Given the description of an element on the screen output the (x, y) to click on. 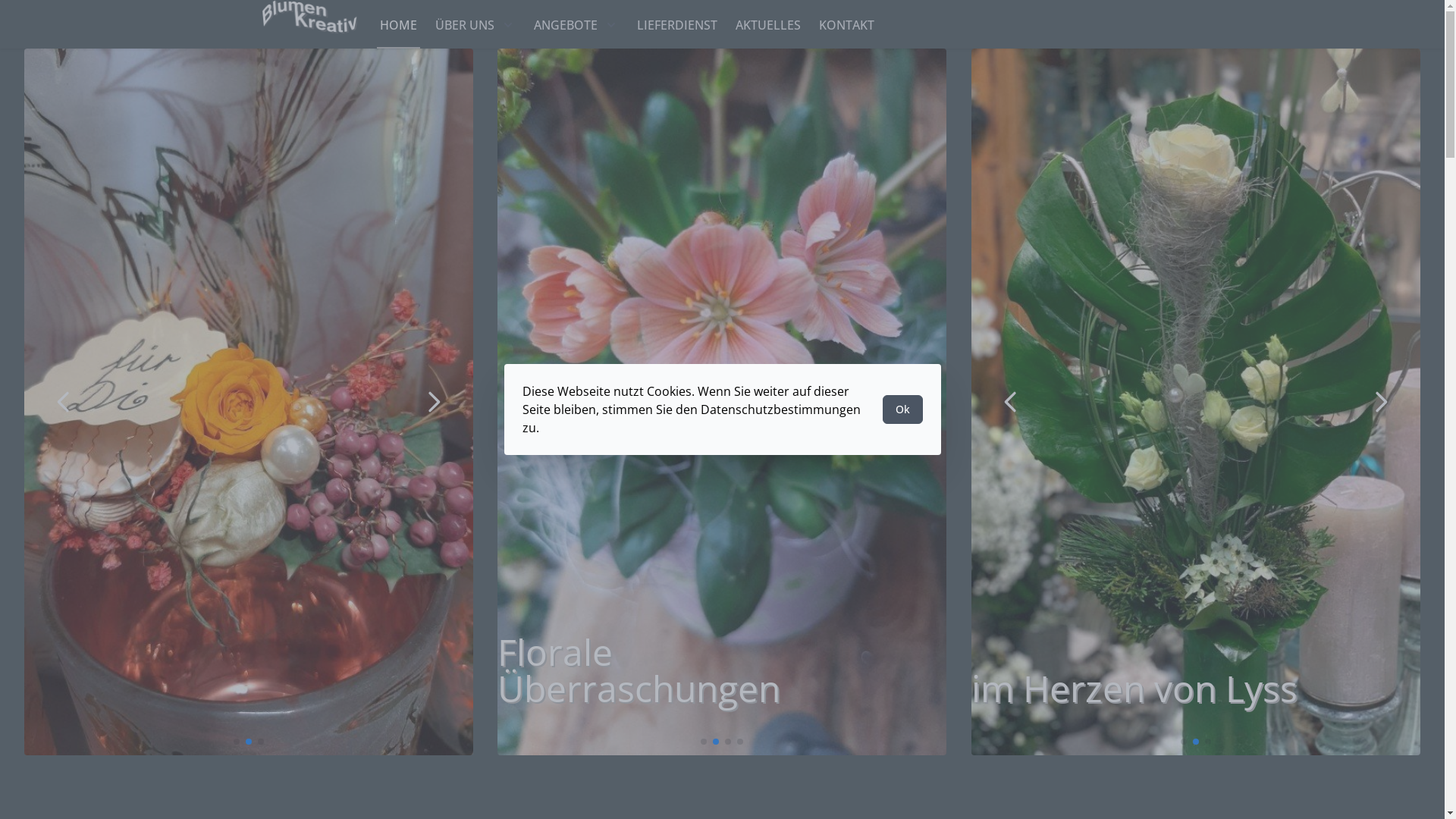
AKTUELLES Element type: text (767, 24)
LIEFERDIENST Element type: text (677, 24)
KONTAKT Element type: text (846, 24)
HOME Element type: text (397, 24)
ANGEBOTE Element type: text (575, 24)
Ok Element type: text (902, 409)
